Given the description of an element on the screen output the (x, y) to click on. 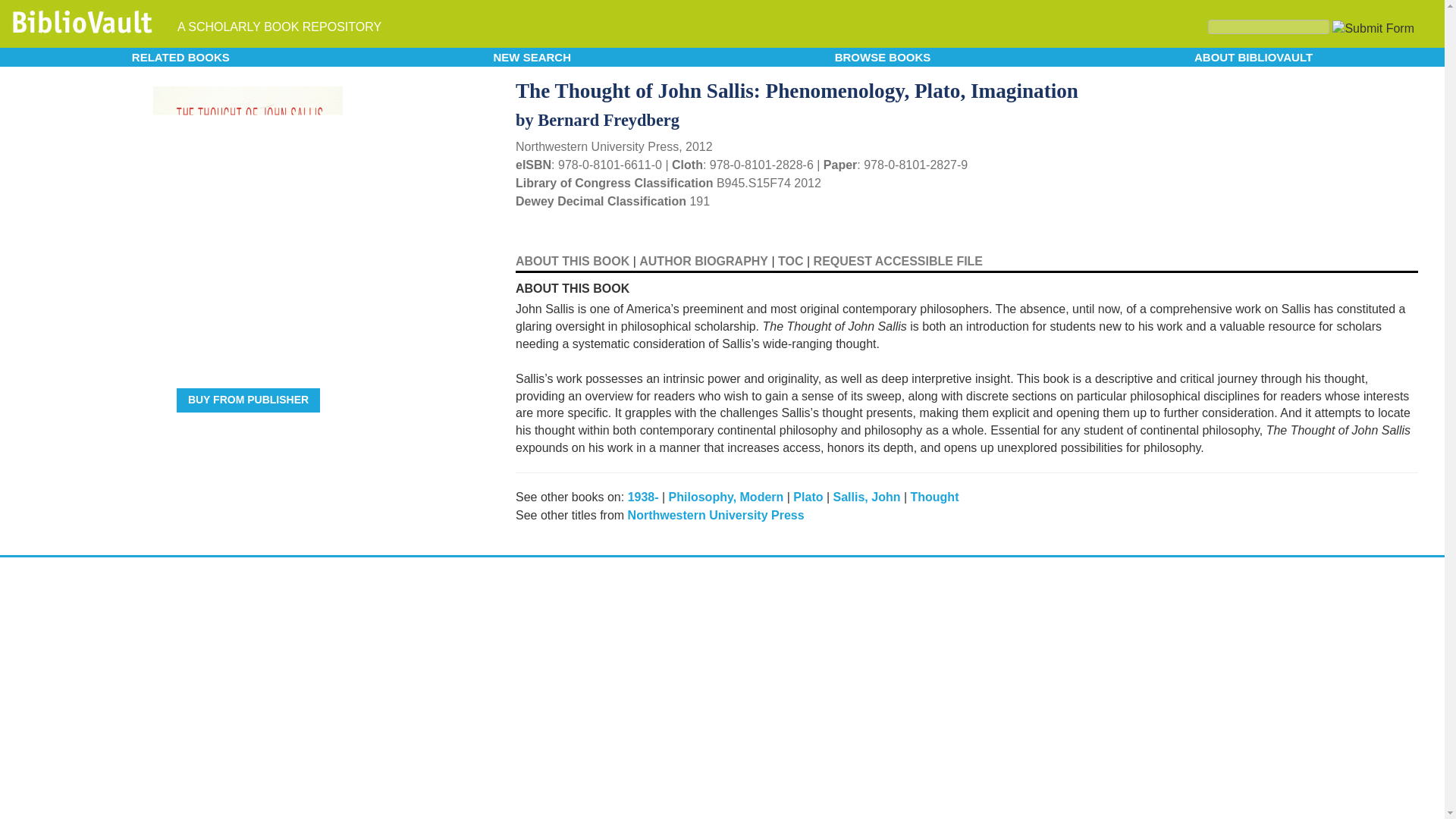
BROWSE BOOKS (882, 56)
NEW SEARCH (532, 56)
Search (1268, 26)
RELATED BOOKS (180, 56)
Philosophy, Modern (726, 496)
Share on Facebook (1384, 90)
Send as an email (1404, 87)
BUY FROM PUBLISHER (248, 400)
Share on Twitter (1358, 86)
1938- (643, 496)
